Given the description of an element on the screen output the (x, y) to click on. 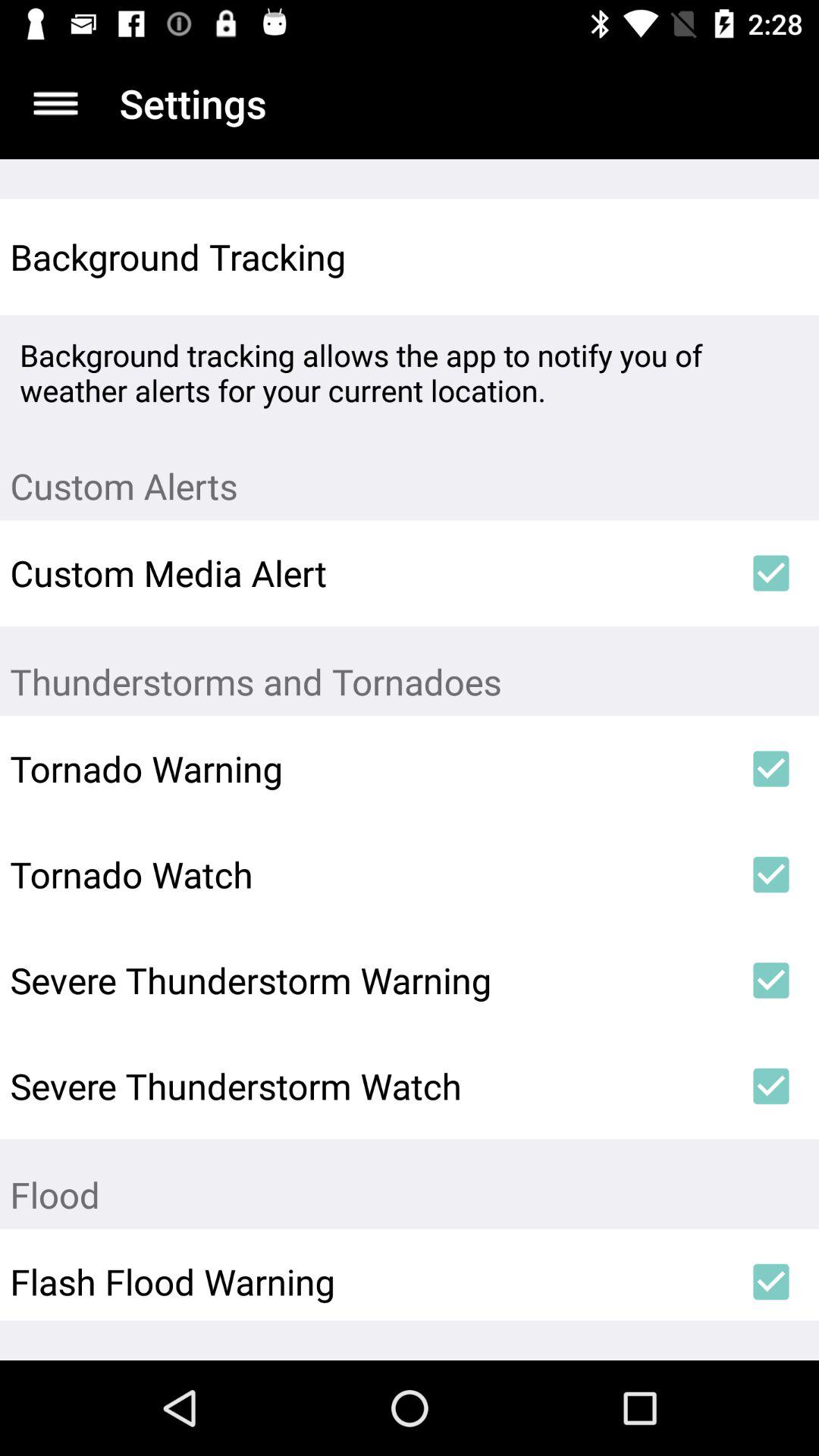
choose item next to custom media alert item (771, 573)
